Given the description of an element on the screen output the (x, y) to click on. 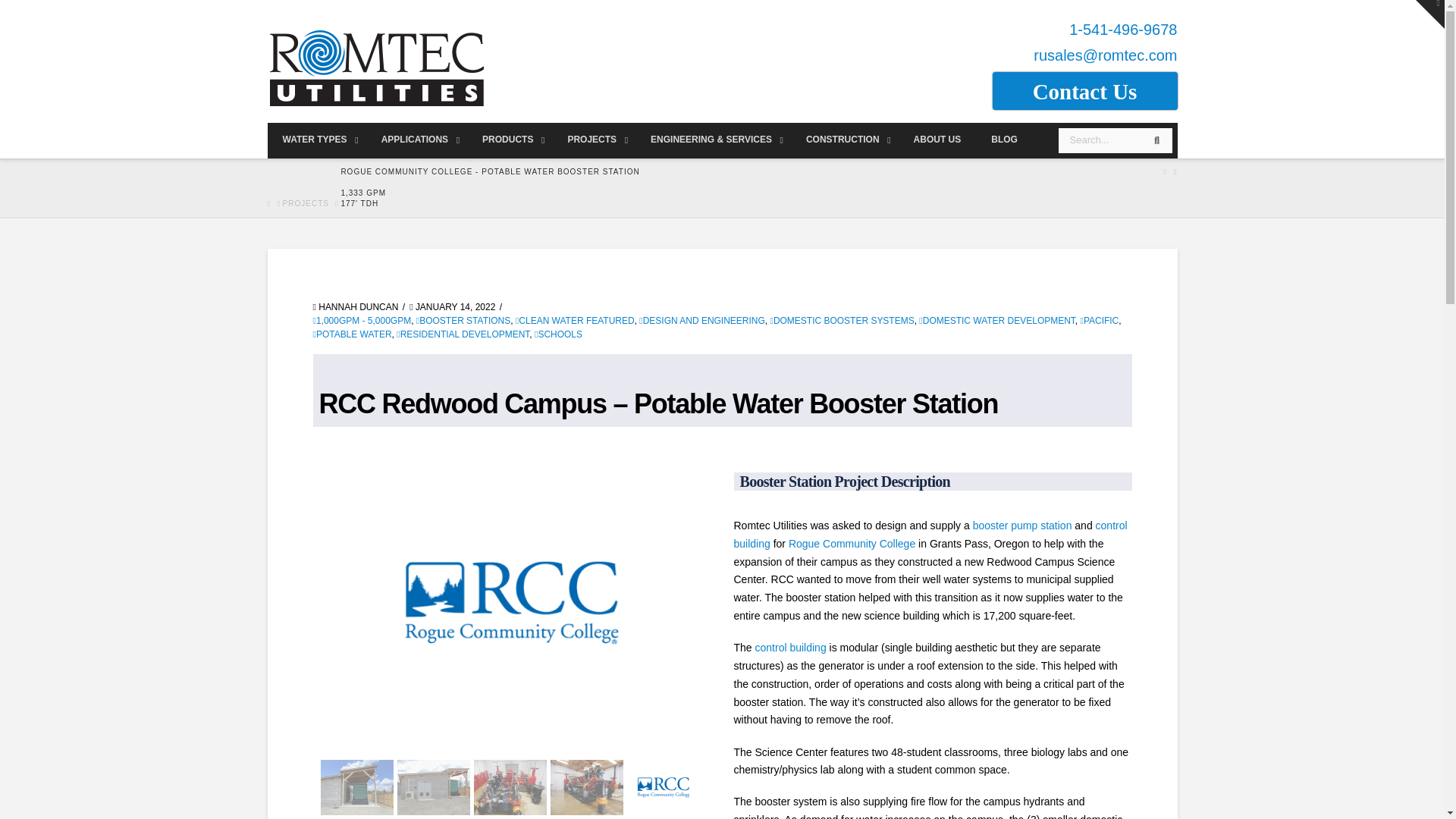
1-541-496-9678 (1122, 29)
Contact Us (1083, 90)
You Are Here (489, 188)
WATER TYPES (315, 140)
APPLICATIONS (416, 140)
